Given the description of an element on the screen output the (x, y) to click on. 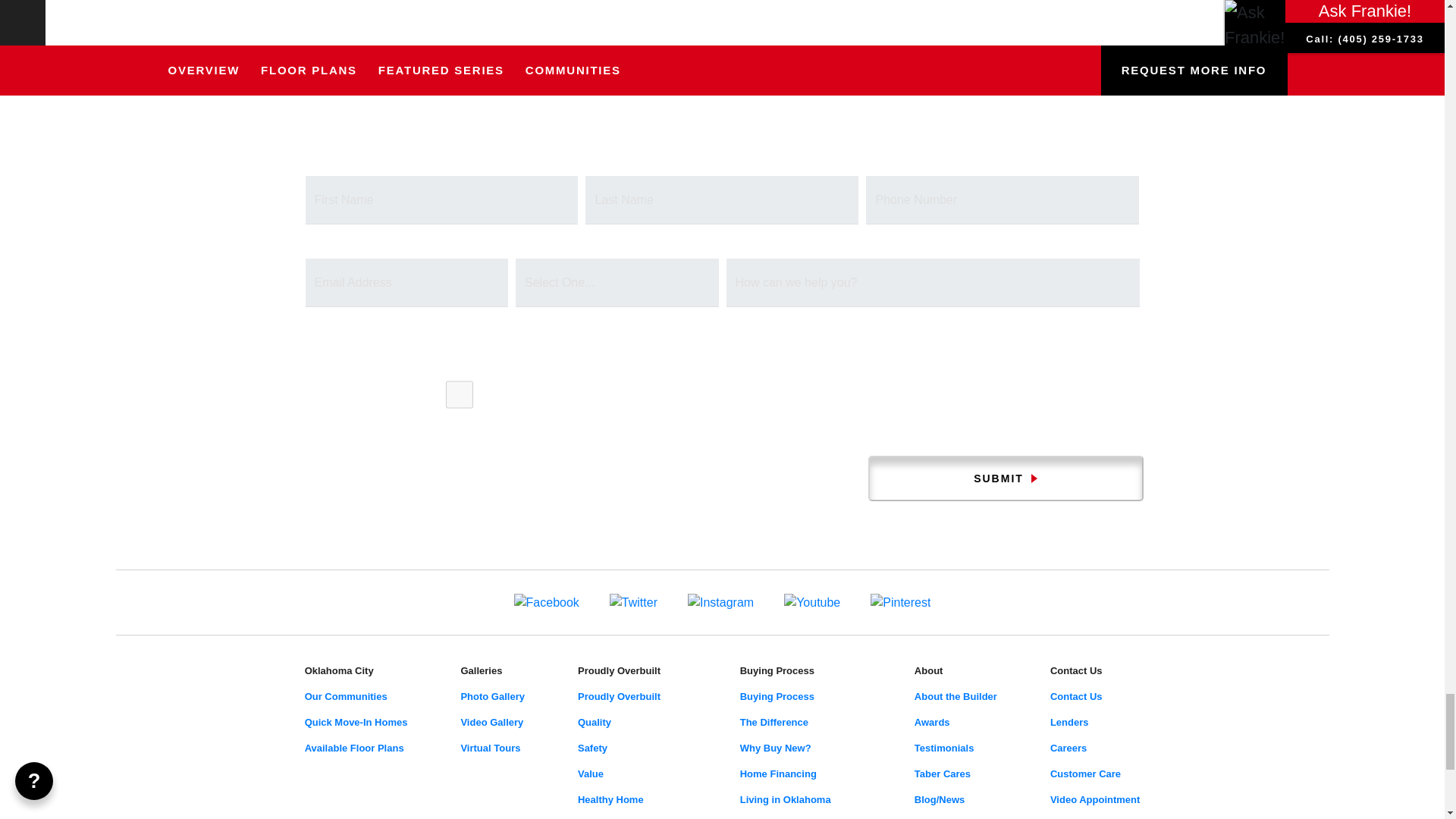
Yes (459, 394)
